Given the description of an element on the screen output the (x, y) to click on. 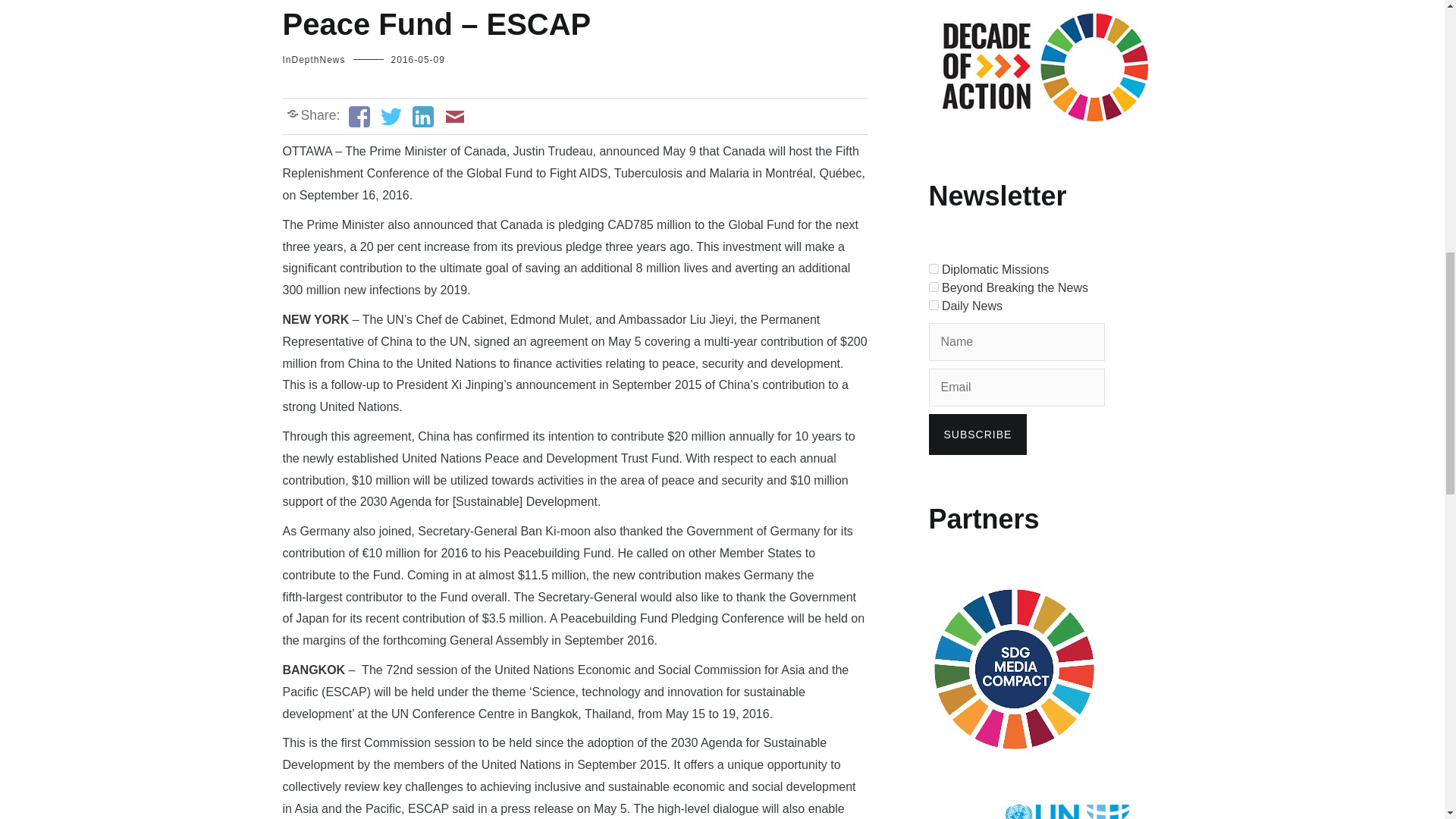
Subscribe (977, 434)
9 (932, 286)
10 (932, 305)
8 (932, 268)
